Given the description of an element on the screen output the (x, y) to click on. 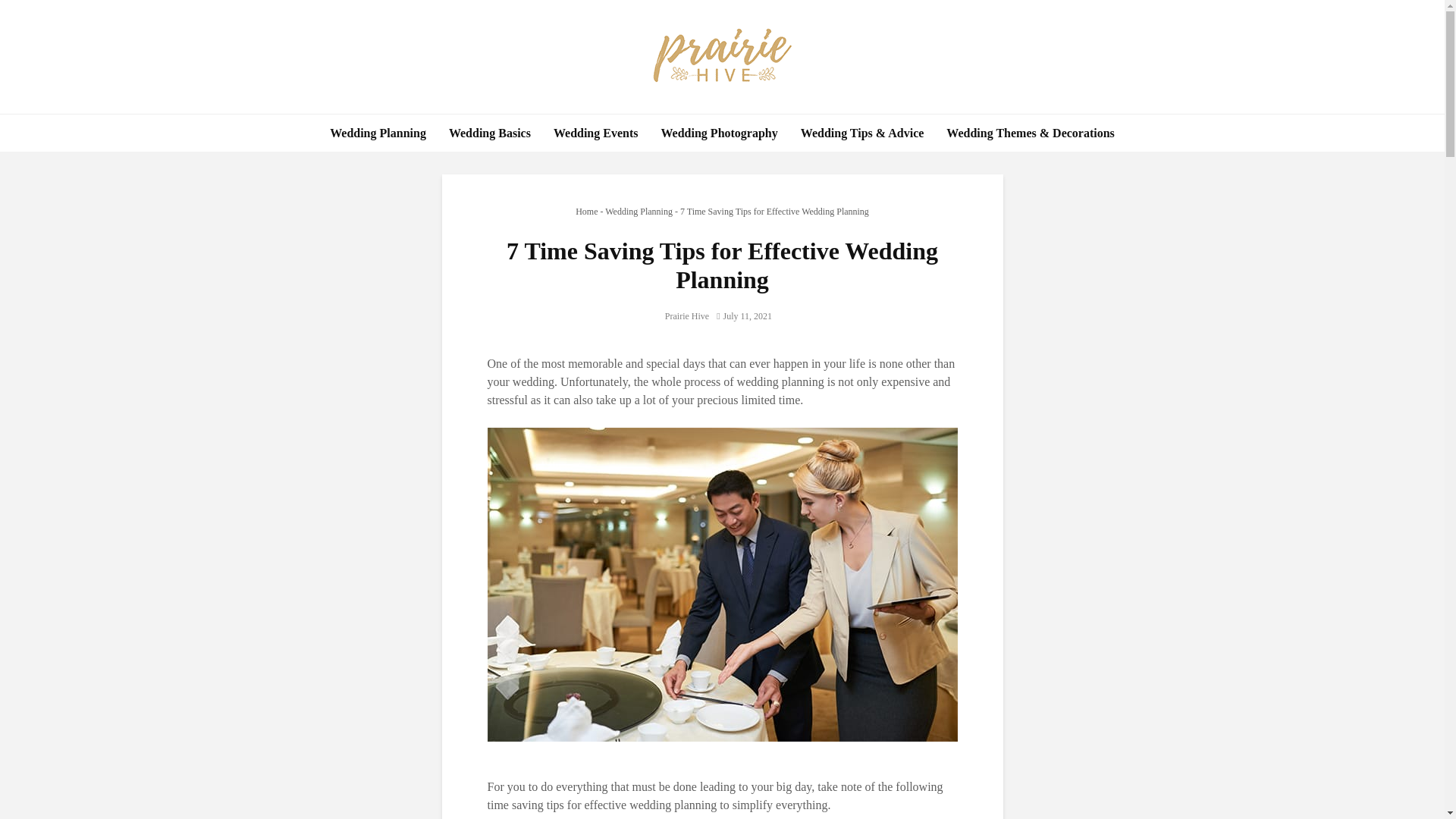
Prairie Hive (687, 316)
Home (585, 211)
Wedding Events (595, 133)
Wedding Planning (378, 133)
Wedding Photography (719, 133)
Wedding Basics (489, 133)
Wedding Planning (638, 211)
